Given the description of an element on the screen output the (x, y) to click on. 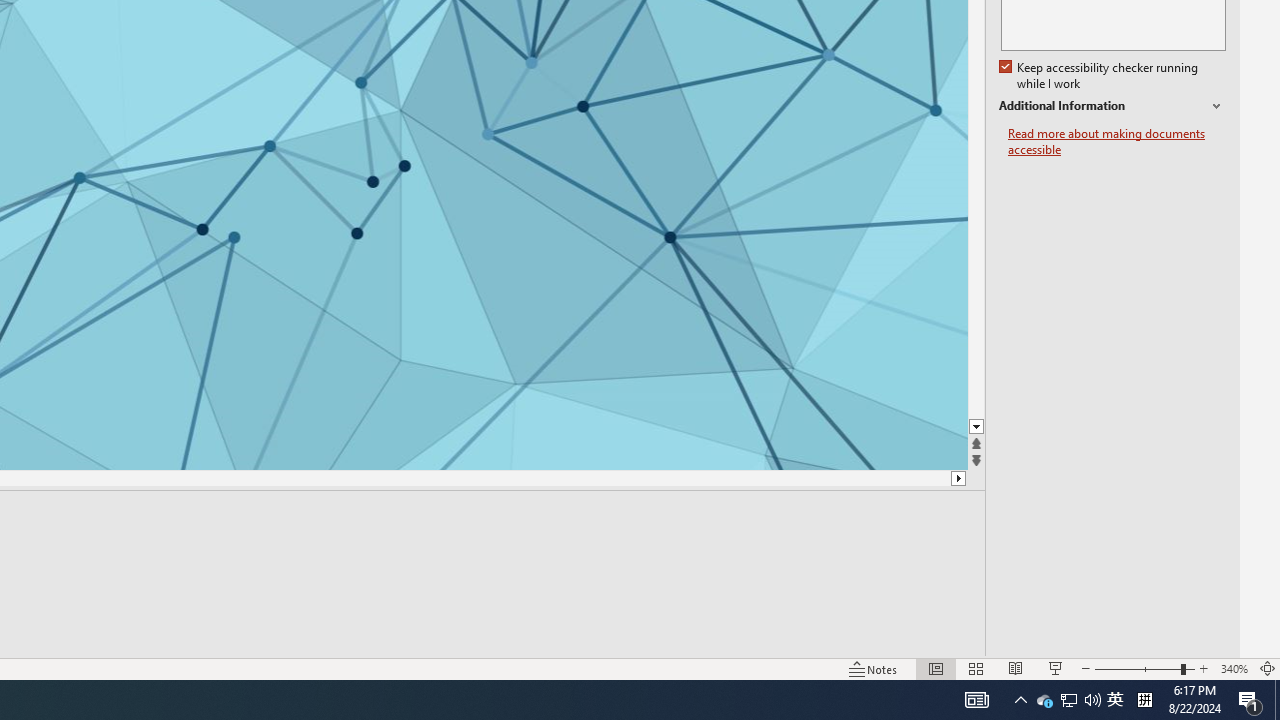
Additional Information (1112, 106)
Keep accessibility checker running while I work (1099, 76)
Zoom 340% (1234, 668)
Read more about making documents accessible (1117, 142)
